Given the description of an element on the screen output the (x, y) to click on. 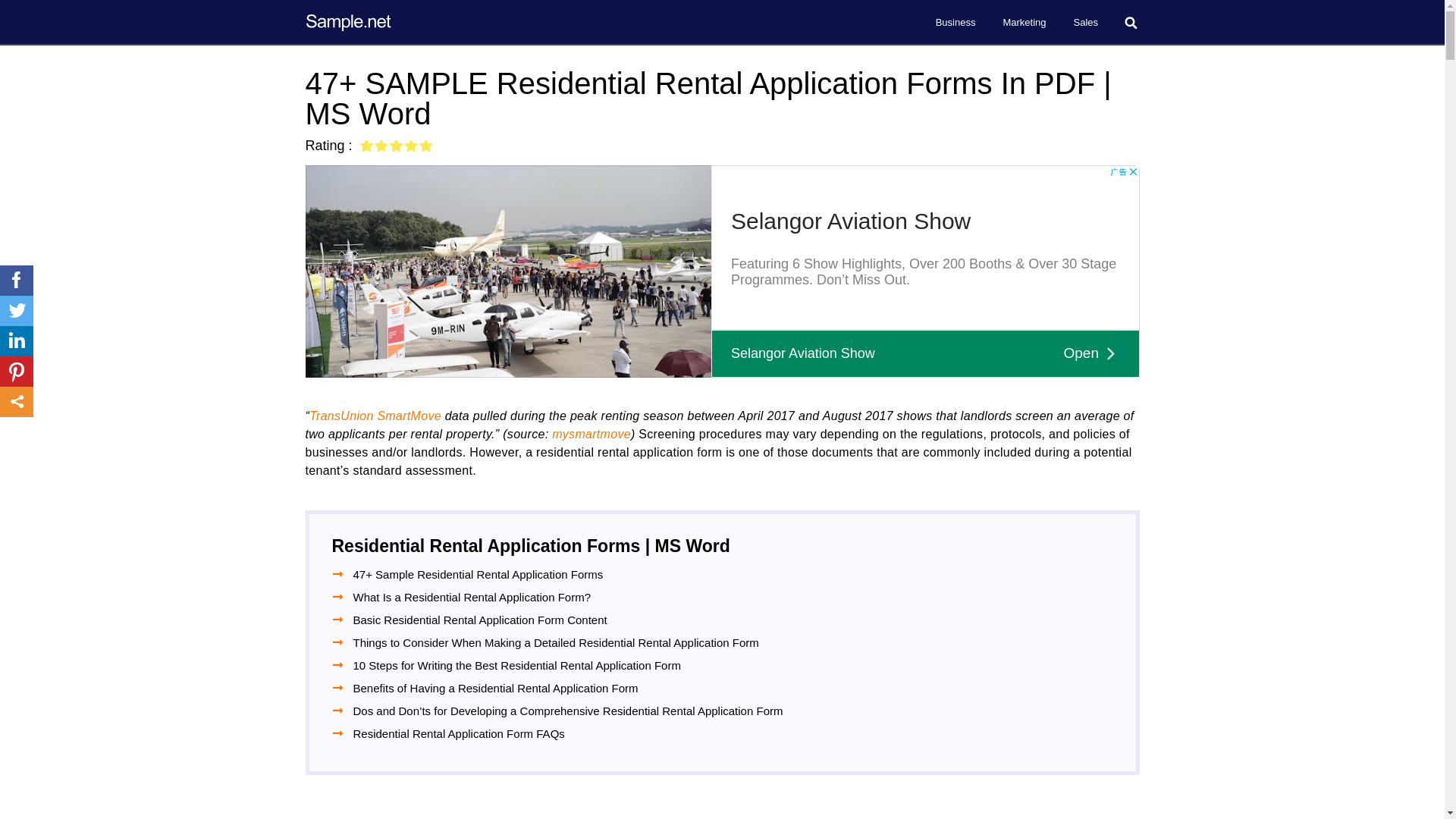
TransUnion SmartMove (374, 415)
Benefits of Having a Residential Rental Application Form (496, 687)
What Is a Residential Rental Application Form? (472, 597)
Residential Rental Application Form FAQs (458, 732)
mysmartmove (590, 433)
Sales (1085, 22)
Basic Residential Rental Application Form Content (480, 619)
